Given the description of an element on the screen output the (x, y) to click on. 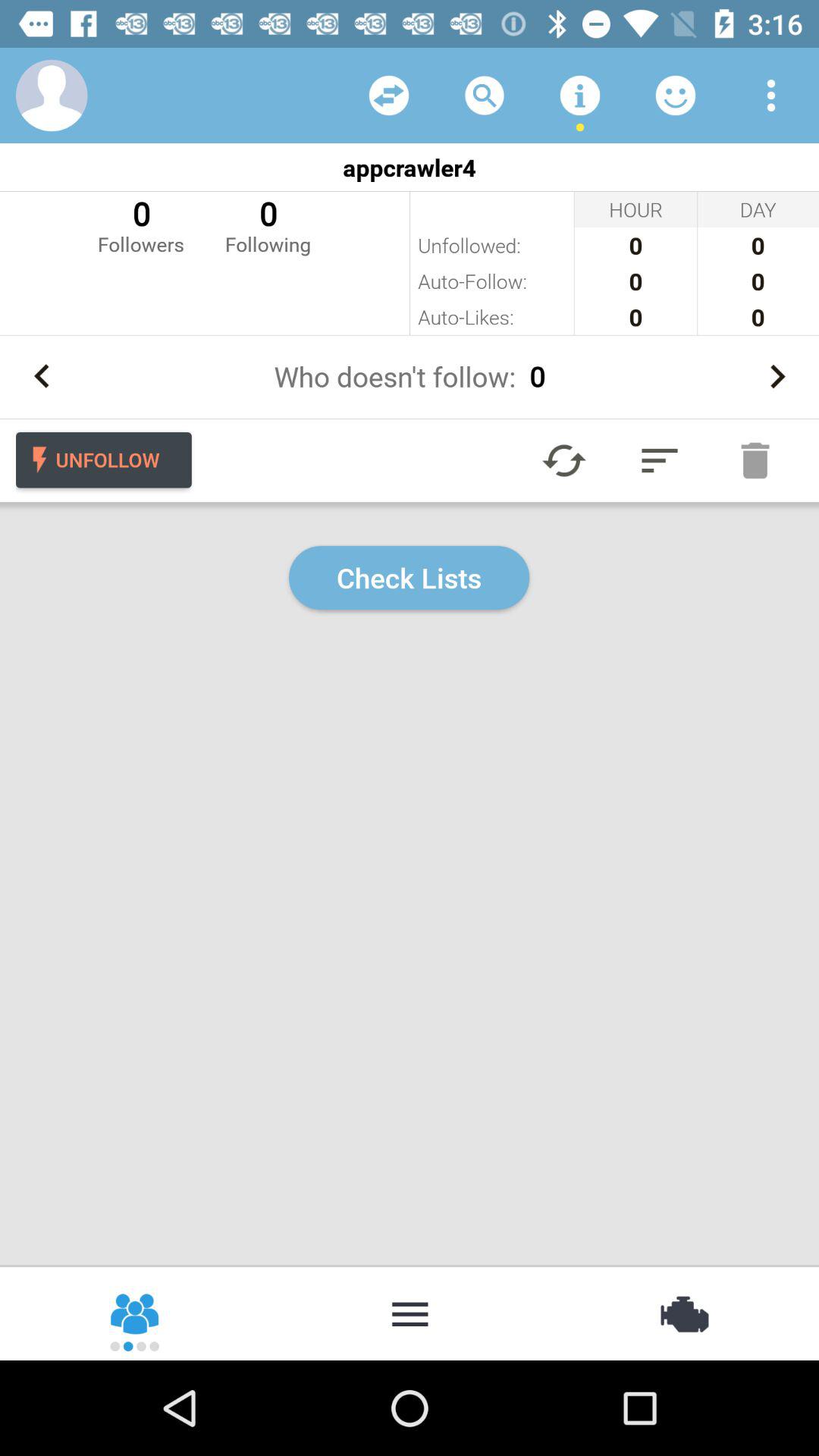
send smile face (675, 95)
